Given the description of an element on the screen output the (x, y) to click on. 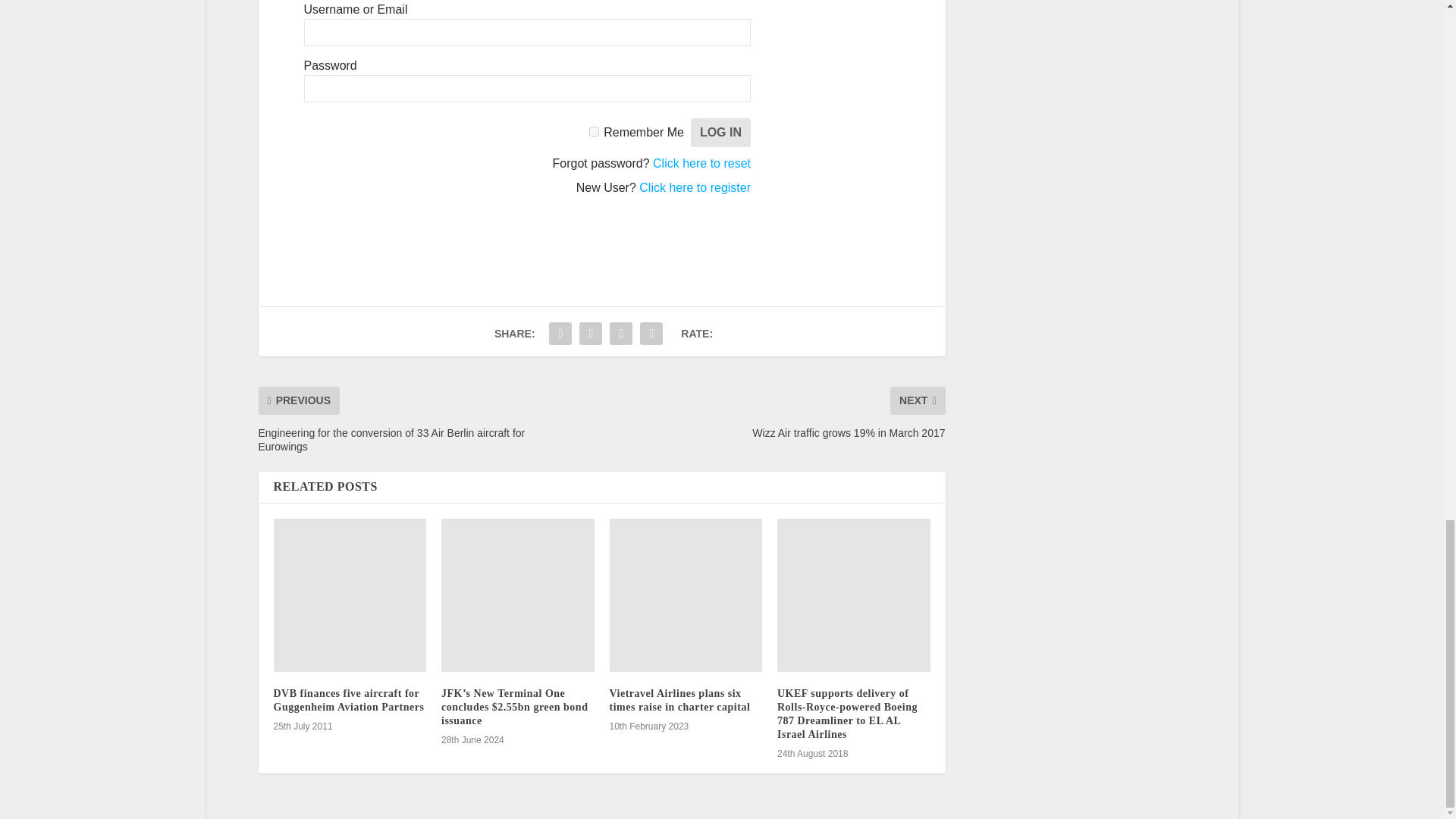
Share "Frontier files for planned IPO" via LinkedIn (590, 333)
Vietravel Airlines plans six times raise in charter capital (686, 594)
DVB finances five aircraft for Guggenheim Aviation Partners (349, 594)
forever (593, 131)
Log In (720, 132)
Share "Frontier files for planned IPO" via Print (651, 333)
Share "Frontier files for planned IPO" via Email (620, 333)
Share "Frontier files for planned IPO" via Twitter (559, 333)
